Given the description of an element on the screen output the (x, y) to click on. 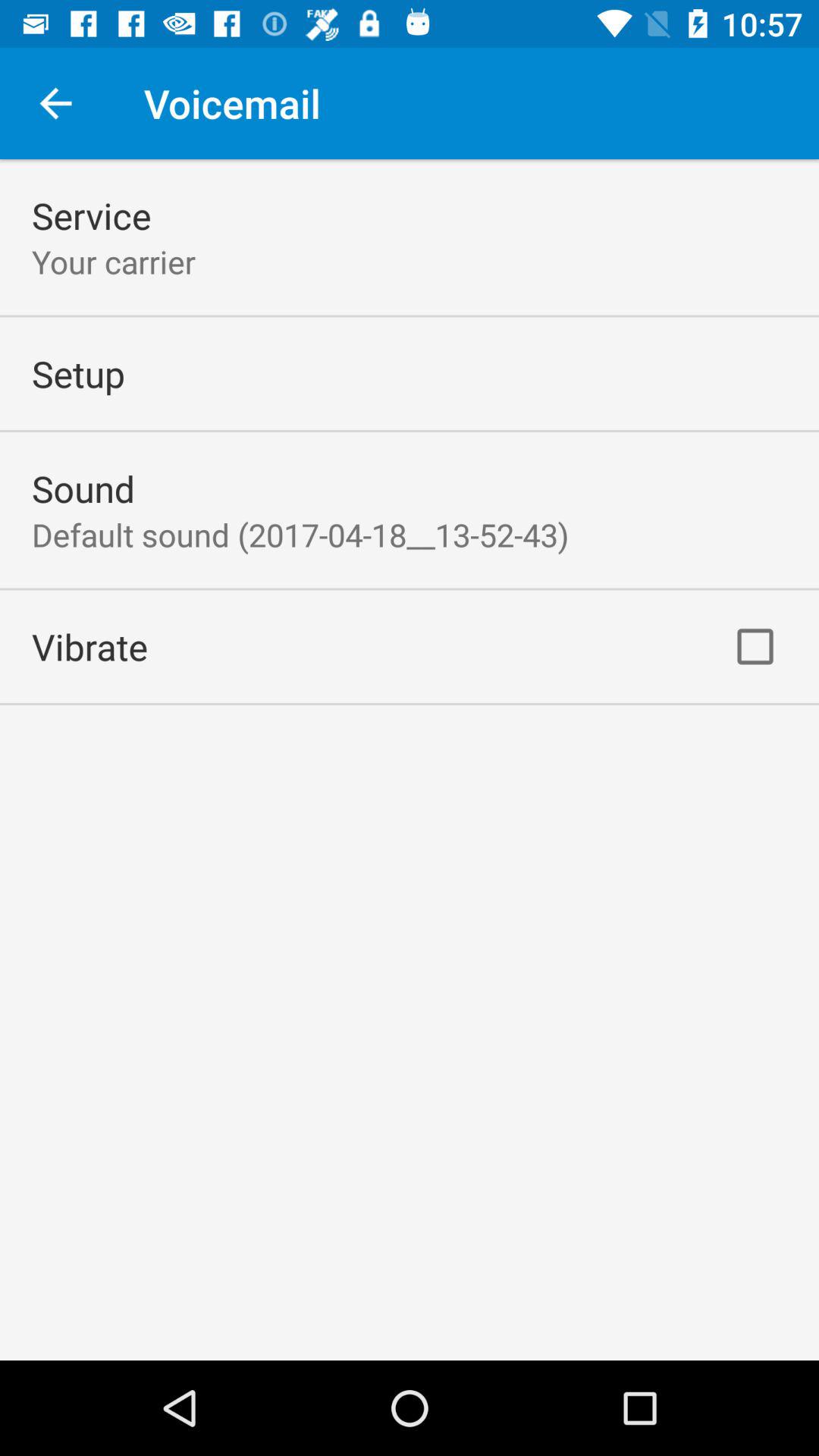
scroll until your carrier item (113, 261)
